Given the description of an element on the screen output the (x, y) to click on. 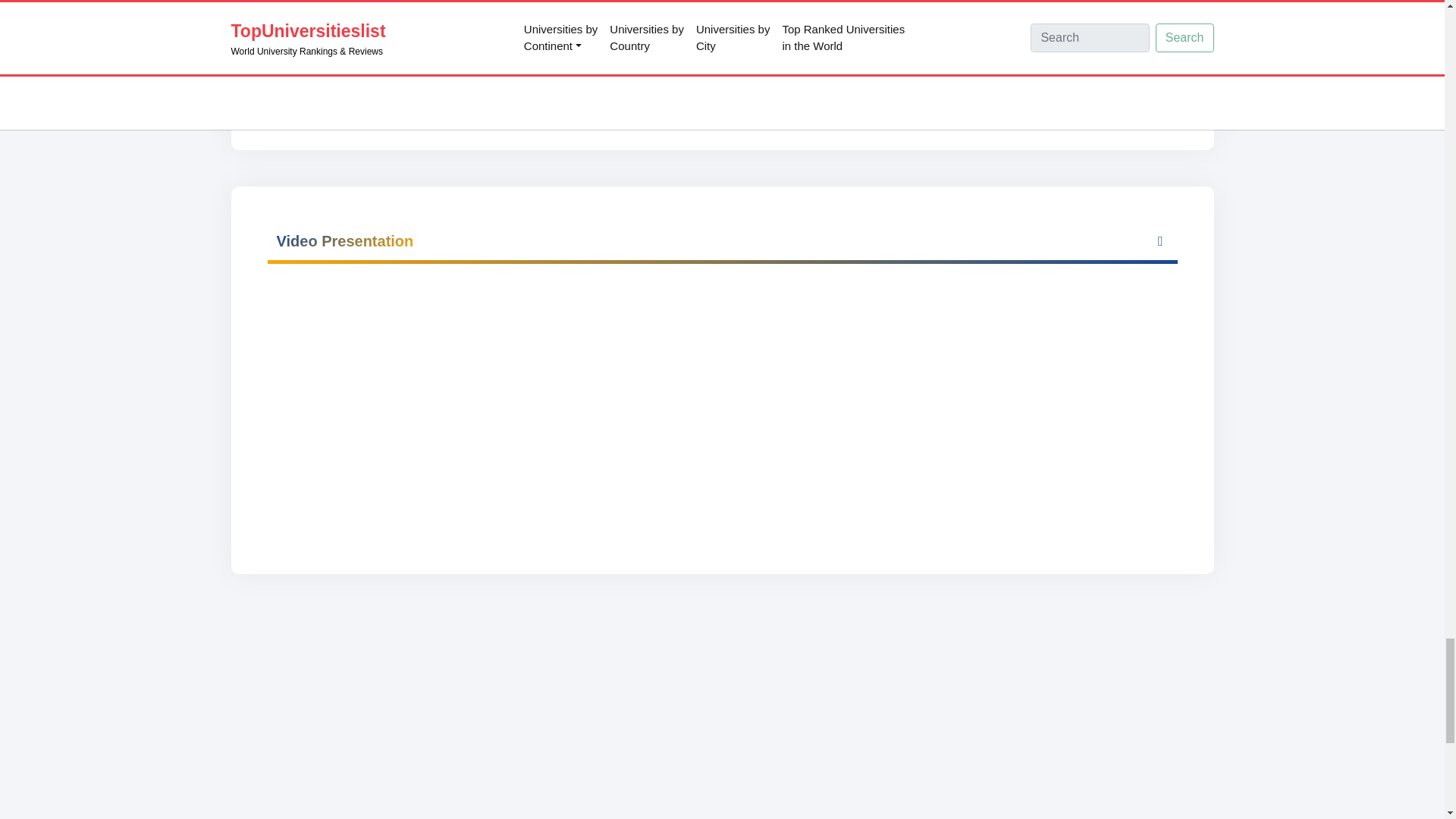
The University of Trinidad and Tobago's Wikipedia article (426, 73)
